Given the description of an element on the screen output the (x, y) to click on. 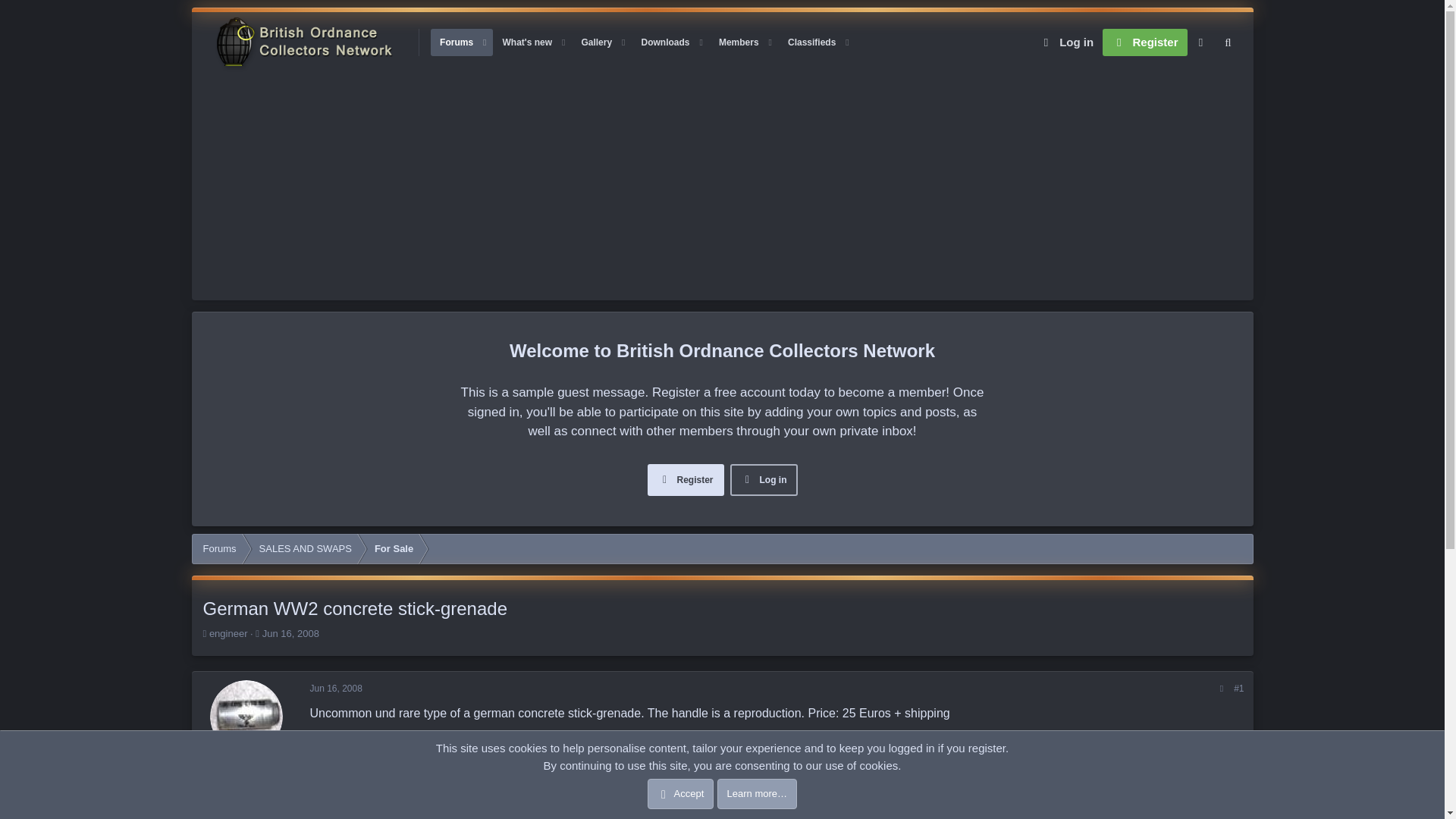
Register (1144, 42)
Classifieds (811, 42)
Downloads (664, 42)
Jun 16, 2008 at 10:00 AM (334, 688)
Log in (1065, 42)
Forums (455, 42)
Gallery (643, 42)
Jun 16, 2008 at 10:00 AM (596, 42)
What's new (290, 633)
Advertisement (526, 42)
